Given the description of an element on the screen output the (x, y) to click on. 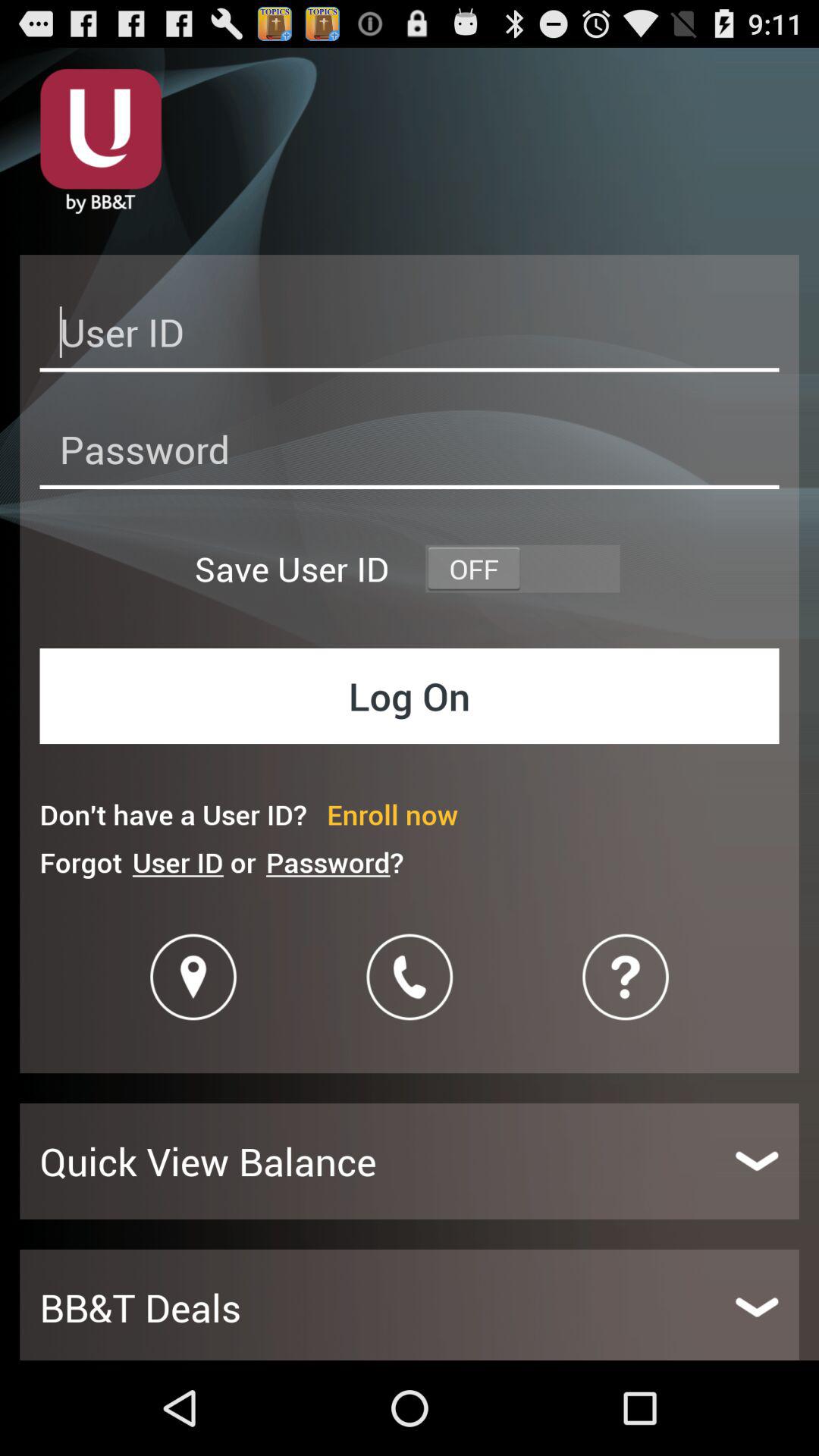
launch the item below don t have item (334, 861)
